Given the description of an element on the screen output the (x, y) to click on. 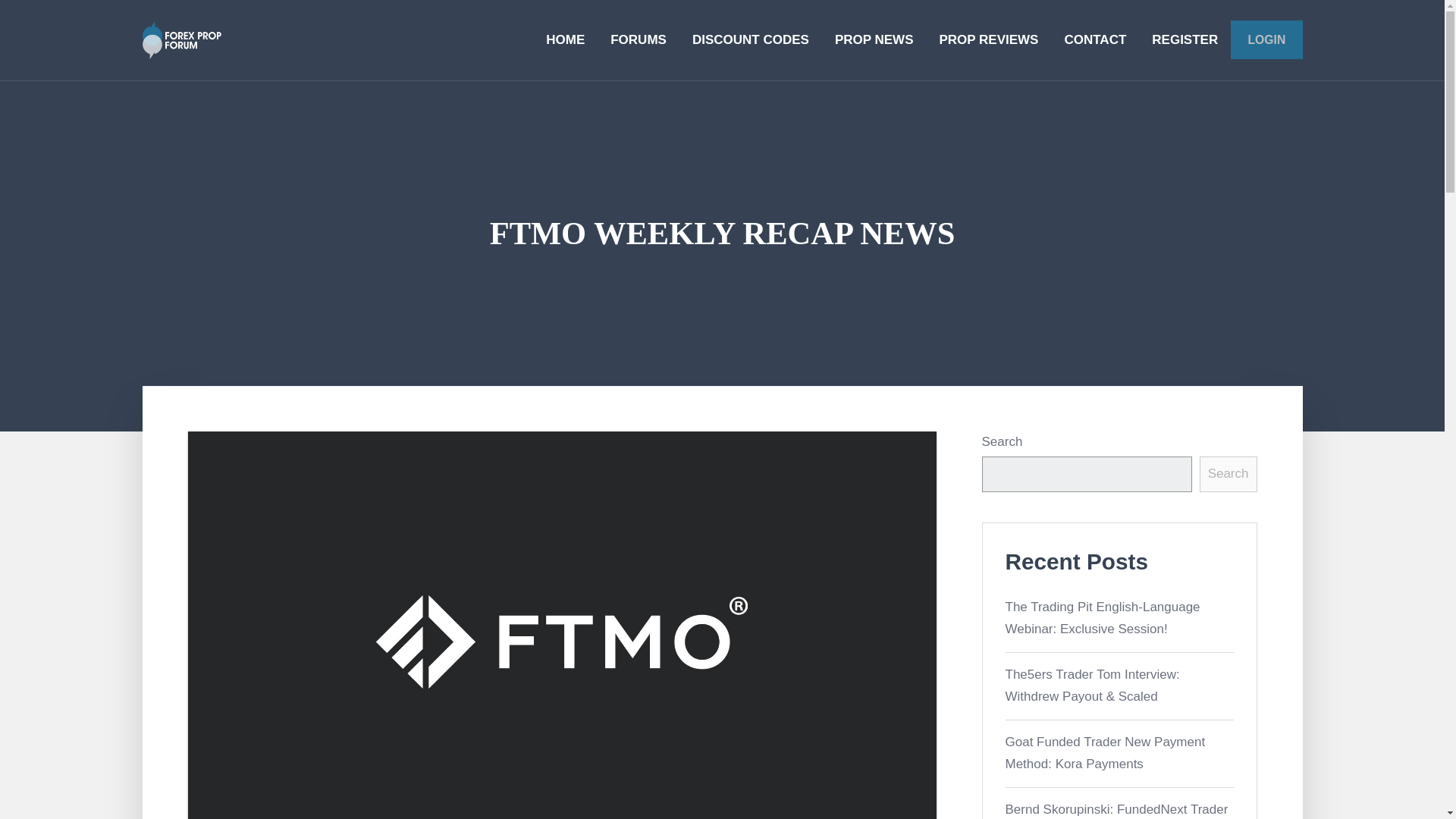
FORUMS (637, 40)
PROP NEWS (874, 40)
DISCOUNT CODES (750, 40)
CONTACT (1094, 40)
PROP REVIEWS (988, 40)
LOGIN (1265, 39)
Search (1228, 474)
The Trading Pit English-Language Webinar: Exclusive Session! (1102, 617)
REGISTER (1184, 40)
Goat Funded Trader New Payment Method: Kora Payments (1105, 752)
